Given the description of an element on the screen output the (x, y) to click on. 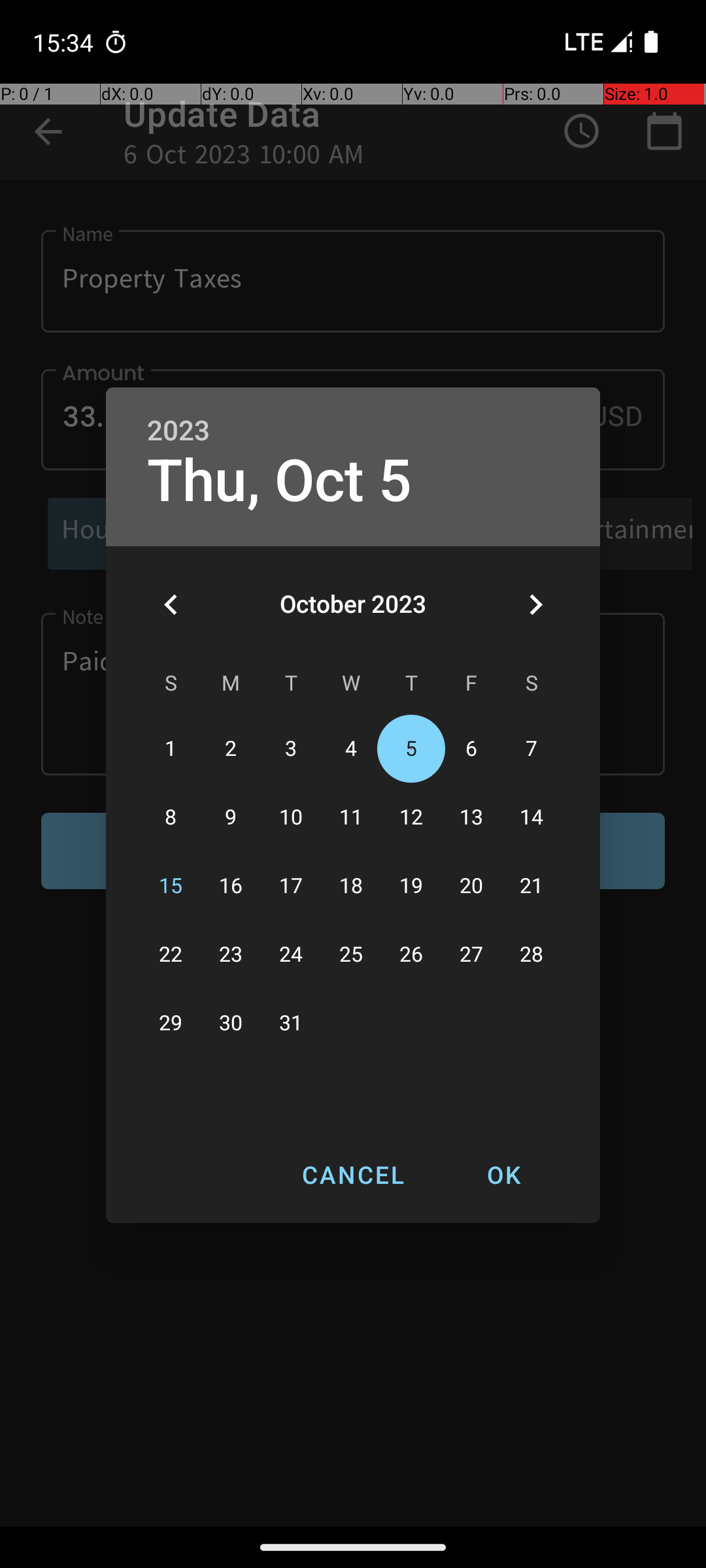
Thu, Oct 5 Element type: android.widget.TextView (279, 480)
